Given the description of an element on the screen output the (x, y) to click on. 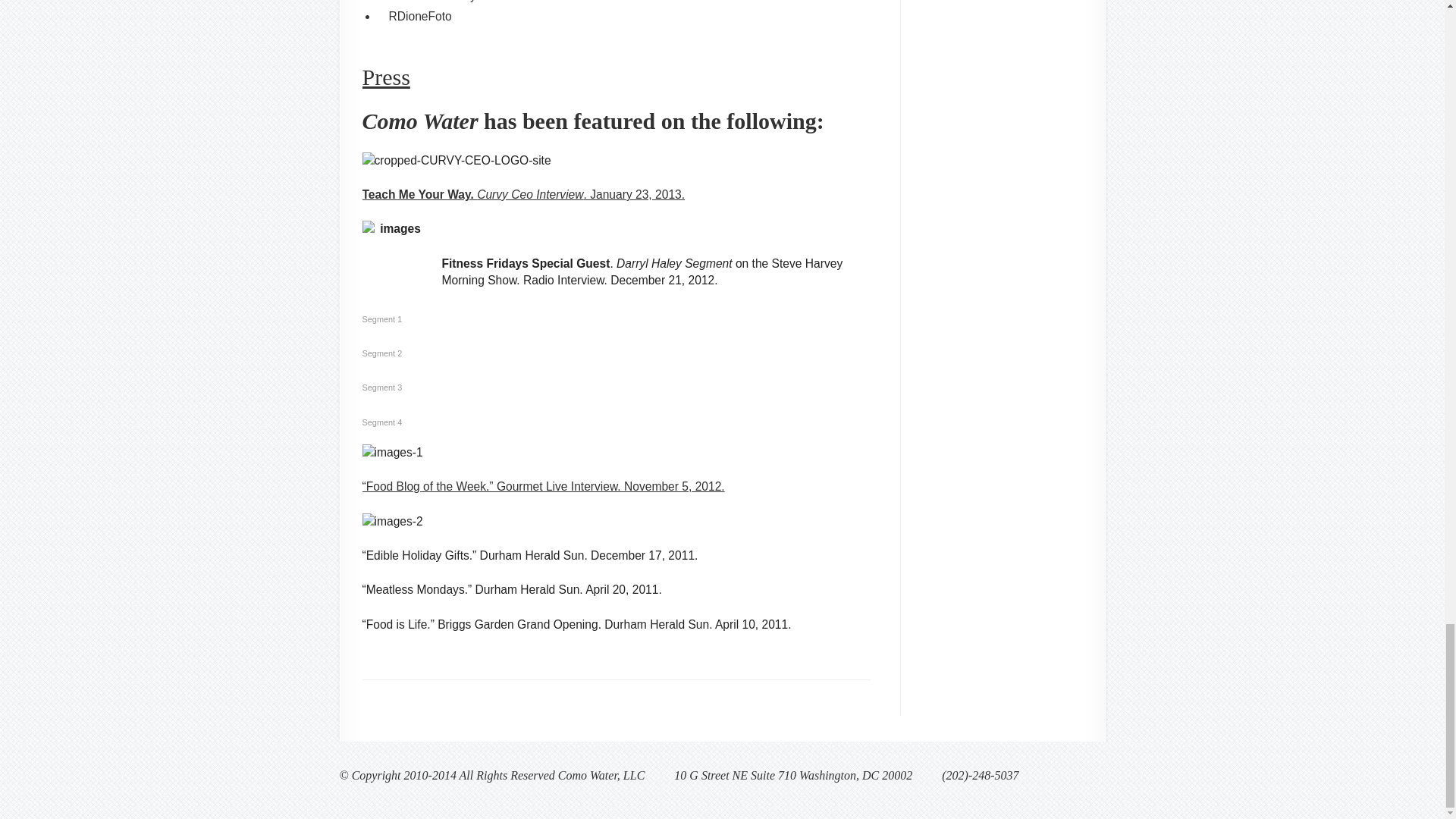
Database in Days (434, 1)
RDioneFoto (419, 15)
Teach Me Your Way. Curvy Ceo Interview. January 23, 2013. (523, 194)
